Given the description of an element on the screen output the (x, y) to click on. 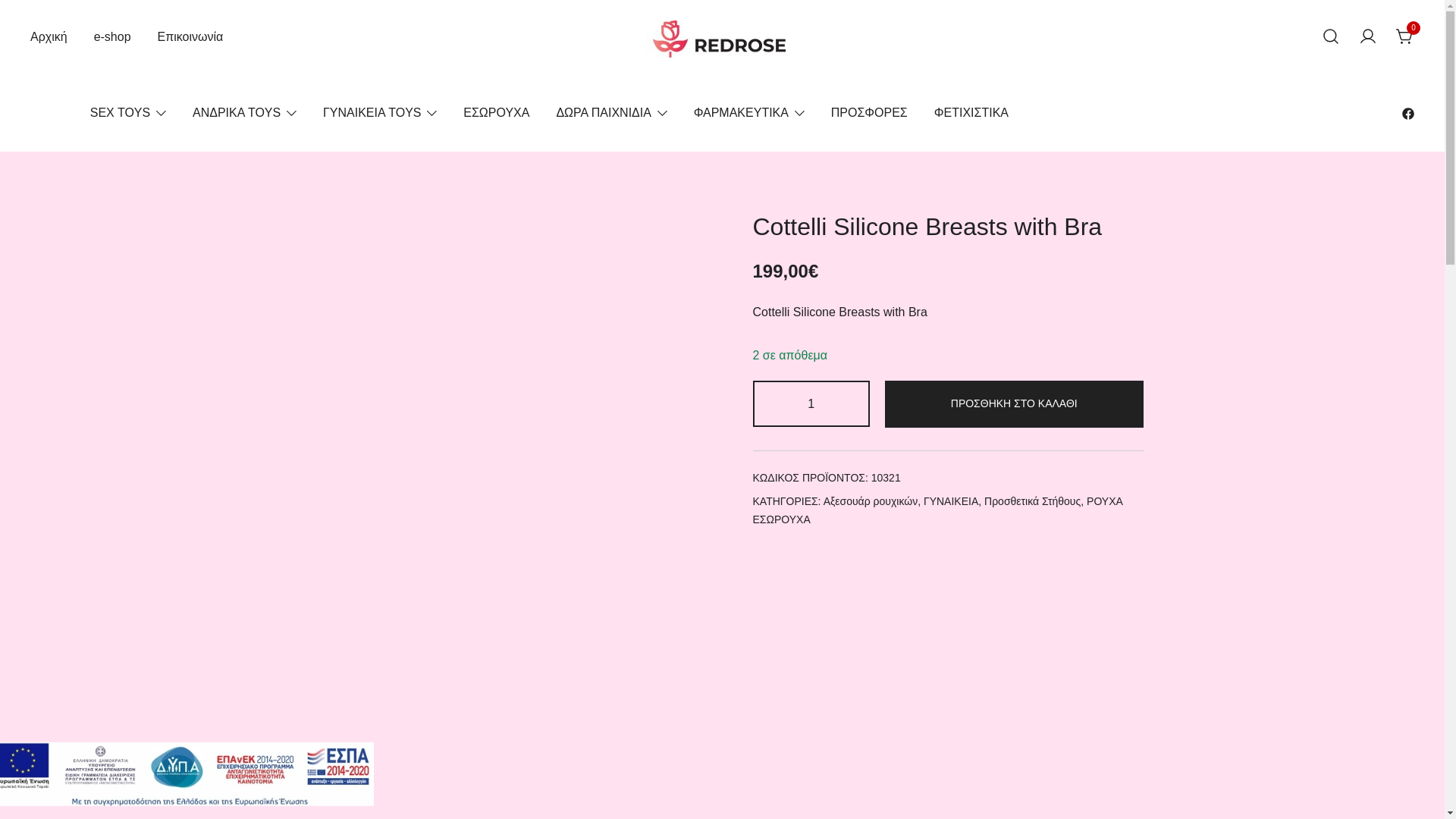
SEX TOYS (119, 113)
View your shopping cart (1404, 36)
e-shop (112, 37)
Social network facebook link. (1407, 112)
0 (1404, 36)
1 (810, 403)
Redrose (674, 74)
0 (1404, 37)
